Given the description of an element on the screen output the (x, y) to click on. 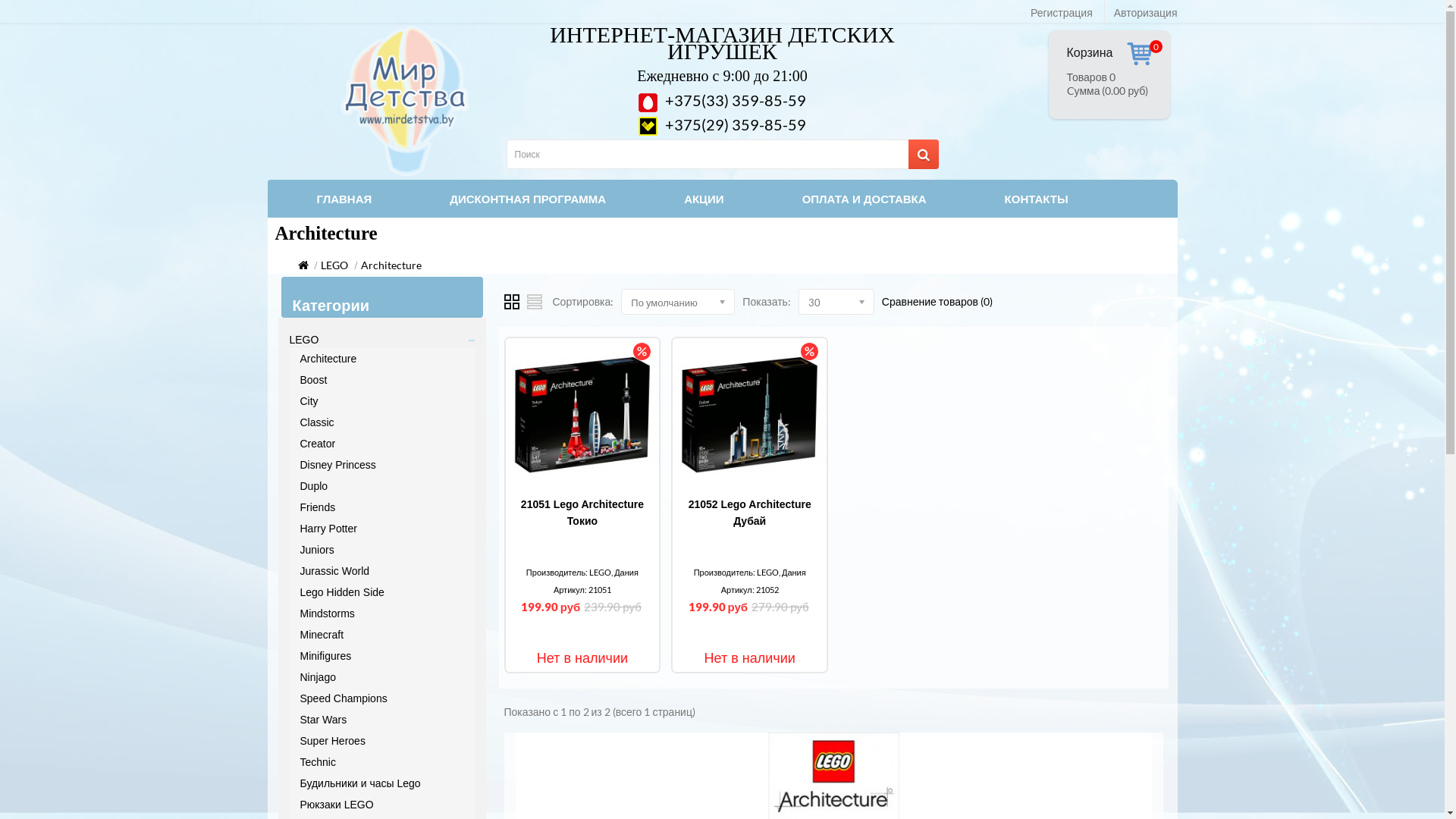
Architecture Element type: text (328, 358)
Disney Princess Element type: text (338, 464)
City Element type: text (309, 401)
LEGO Element type: text (304, 339)
Boost Element type: text (313, 379)
Technic Element type: text (317, 762)
Minifigures Element type: text (325, 655)
Classic Element type: text (317, 422)
Friends Element type: text (317, 507)
0 Element type: text (1140, 55)
LEGO Element type: text (334, 264)
+375(29) 359-85-59 Element type: text (722, 124)
Super Heroes Element type: text (332, 740)
Jurassic World Element type: text (335, 570)
Star Wars Element type: text (323, 719)
Minecraft Element type: text (322, 634)
Juniors Element type: text (317, 549)
Ninjago Element type: text (317, 677)
Lego Hidden Side Element type: text (342, 592)
Creator Element type: text (317, 443)
+375(33) 359-85-59 Element type: text (722, 100)
Duplo Element type: text (314, 486)
Mindstorms Element type: text (327, 613)
Architecture Element type: text (390, 264)
Speed Champions Element type: text (343, 698)
Harry Potter Element type: text (328, 528)
